Given the description of an element on the screen output the (x, y) to click on. 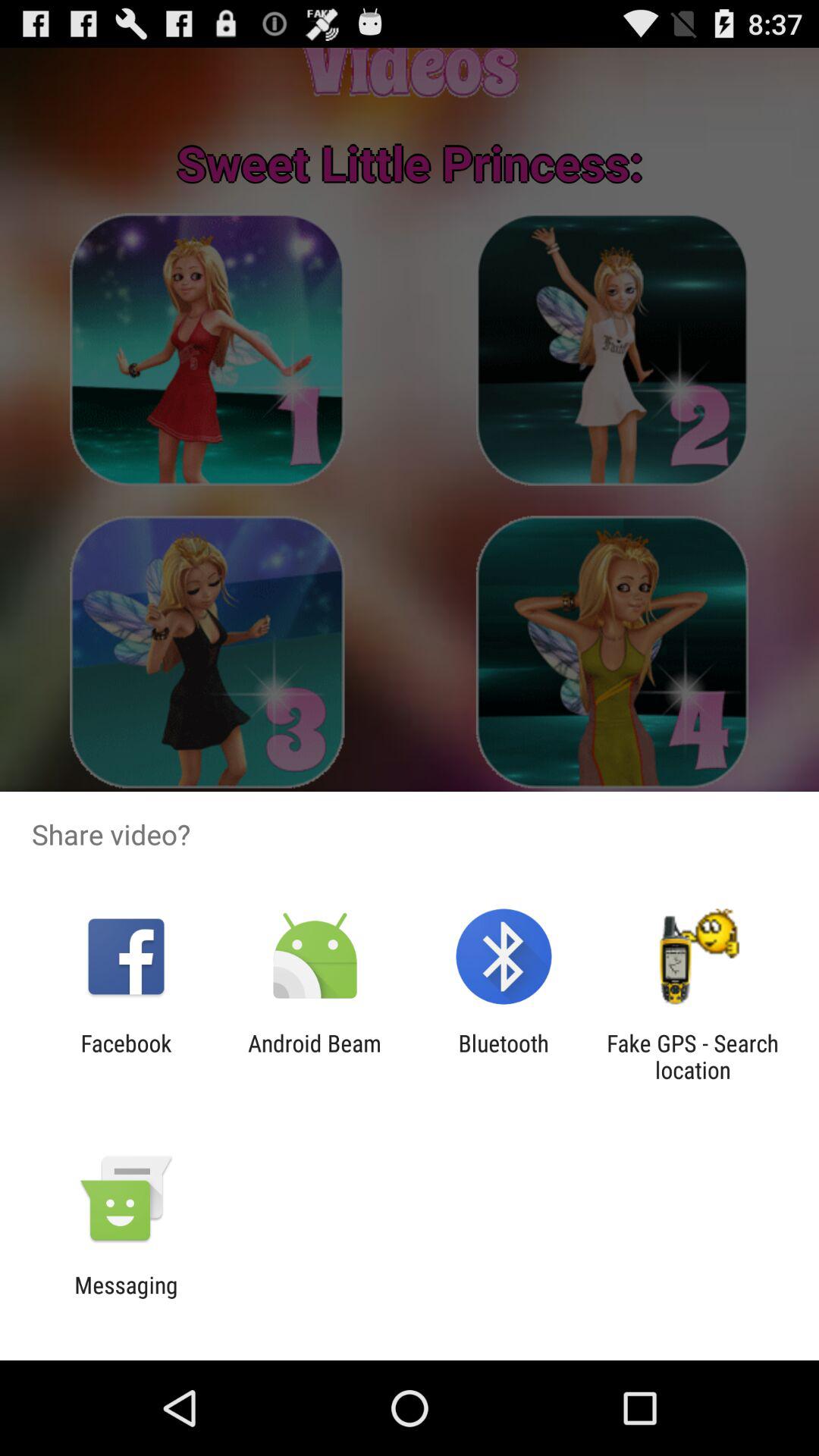
swipe until the android beam (314, 1056)
